Given the description of an element on the screen output the (x, y) to click on. 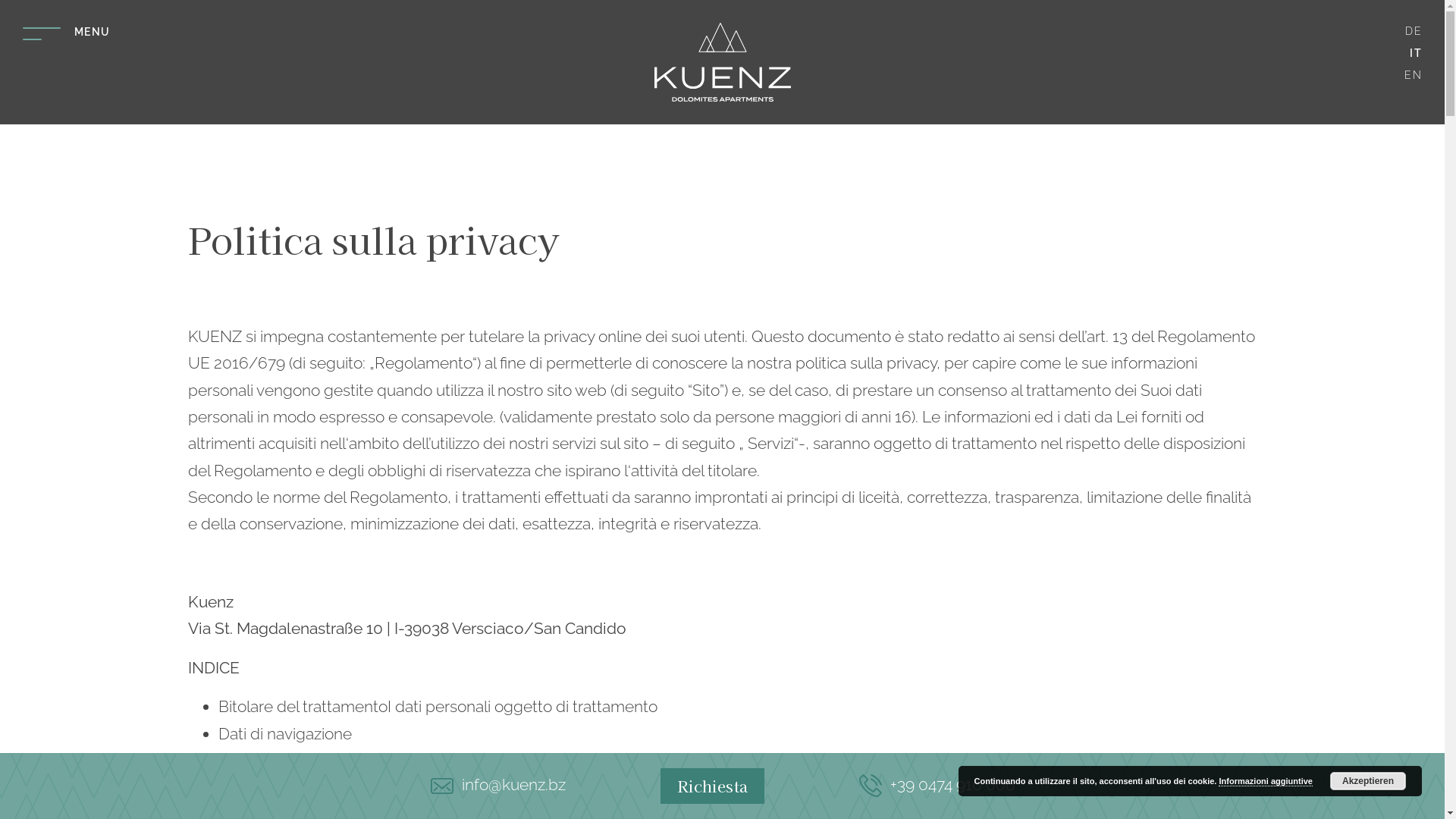
DE Element type: text (1413, 31)
IT Element type: text (1415, 53)
EN Element type: text (1412, 75)
+39 0474 910 008 Element type: text (935, 784)
Informazioni aggiuntive Element type: text (1264, 781)
info@kuenz.bz Element type: text (497, 784)
Akzeptieren Element type: text (1367, 780)
Richiesta Element type: text (711, 785)
